Given the description of an element on the screen output the (x, y) to click on. 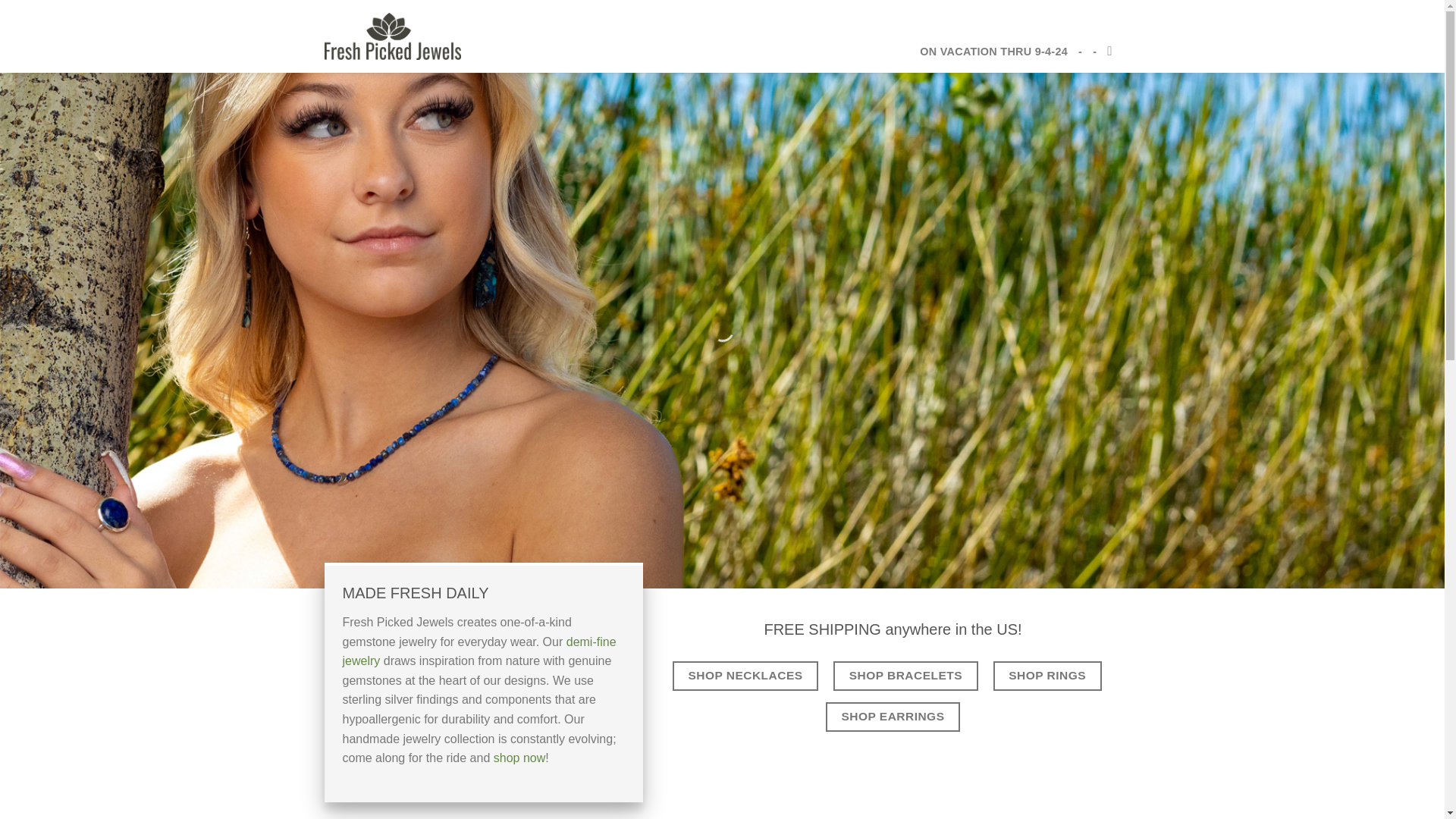
ON VACATION THRU 9-4-24 (993, 51)
SHOP RINGS (1047, 675)
SHOP EARRINGS (892, 716)
demi-fine jewelry (478, 651)
SHOP BRACELETS (905, 675)
shop now (519, 757)
SHOP NECKLACES (745, 675)
FreshPickedJewels.com - Handmade Gemstone Jewelery (392, 35)
